Given the description of an element on the screen output the (x, y) to click on. 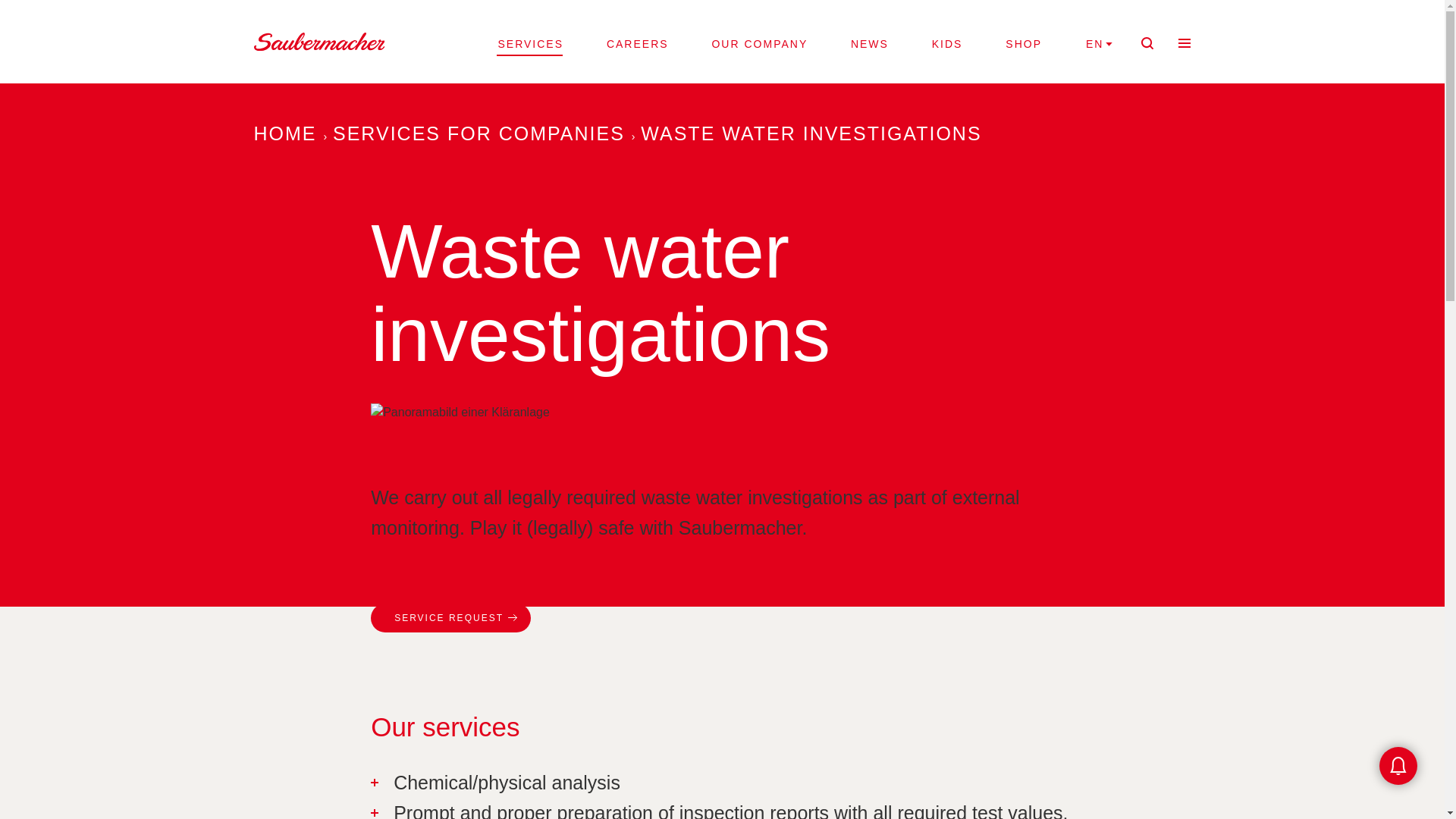
Homepage (318, 40)
